Given the description of an element on the screen output the (x, y) to click on. 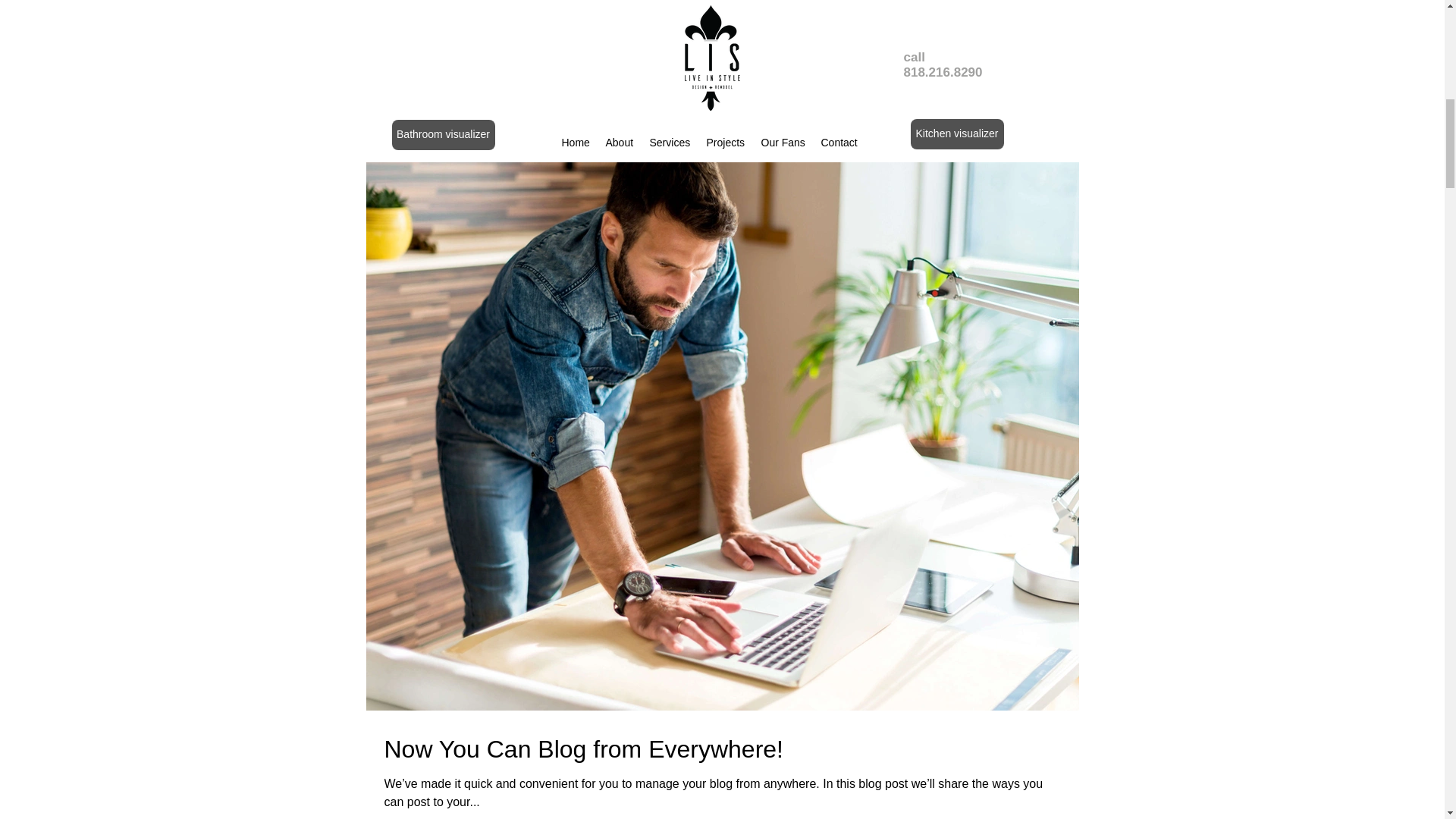
Now You Can Blog from Everywhere! (721, 749)
